Given the description of an element on the screen output the (x, y) to click on. 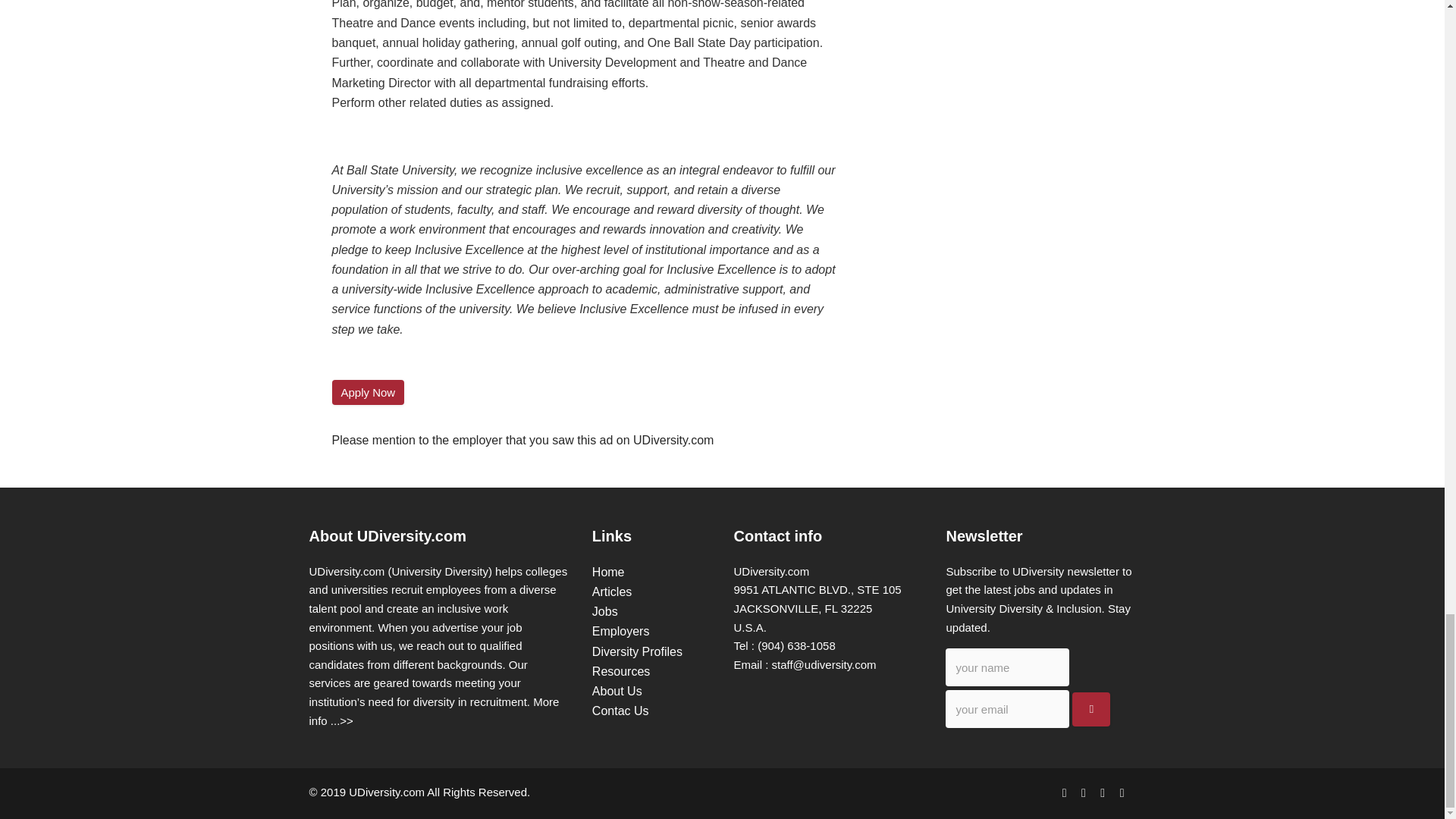
Home (608, 571)
Articles (611, 591)
Apply Now (367, 392)
Jobs (604, 611)
